Given the description of an element on the screen output the (x, y) to click on. 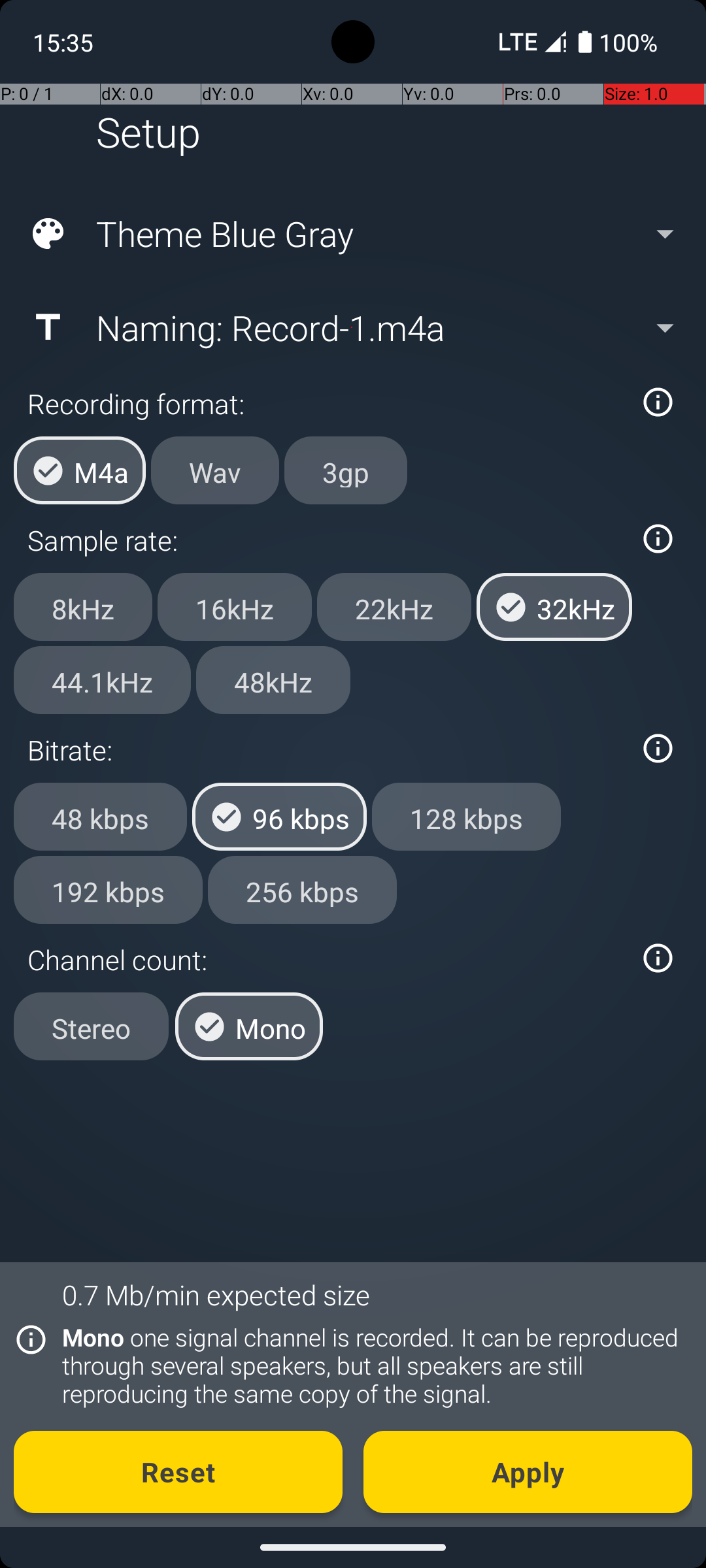
0.7 Mb/min expected size Element type: android.widget.TextView (215, 1294)
Mono one signal channel is recorded. It can be reproduced through several speakers, but all speakers are still reproducing the same copy of the signal. Element type: android.widget.TextView (370, 1364)
